Given the description of an element on the screen output the (x, y) to click on. 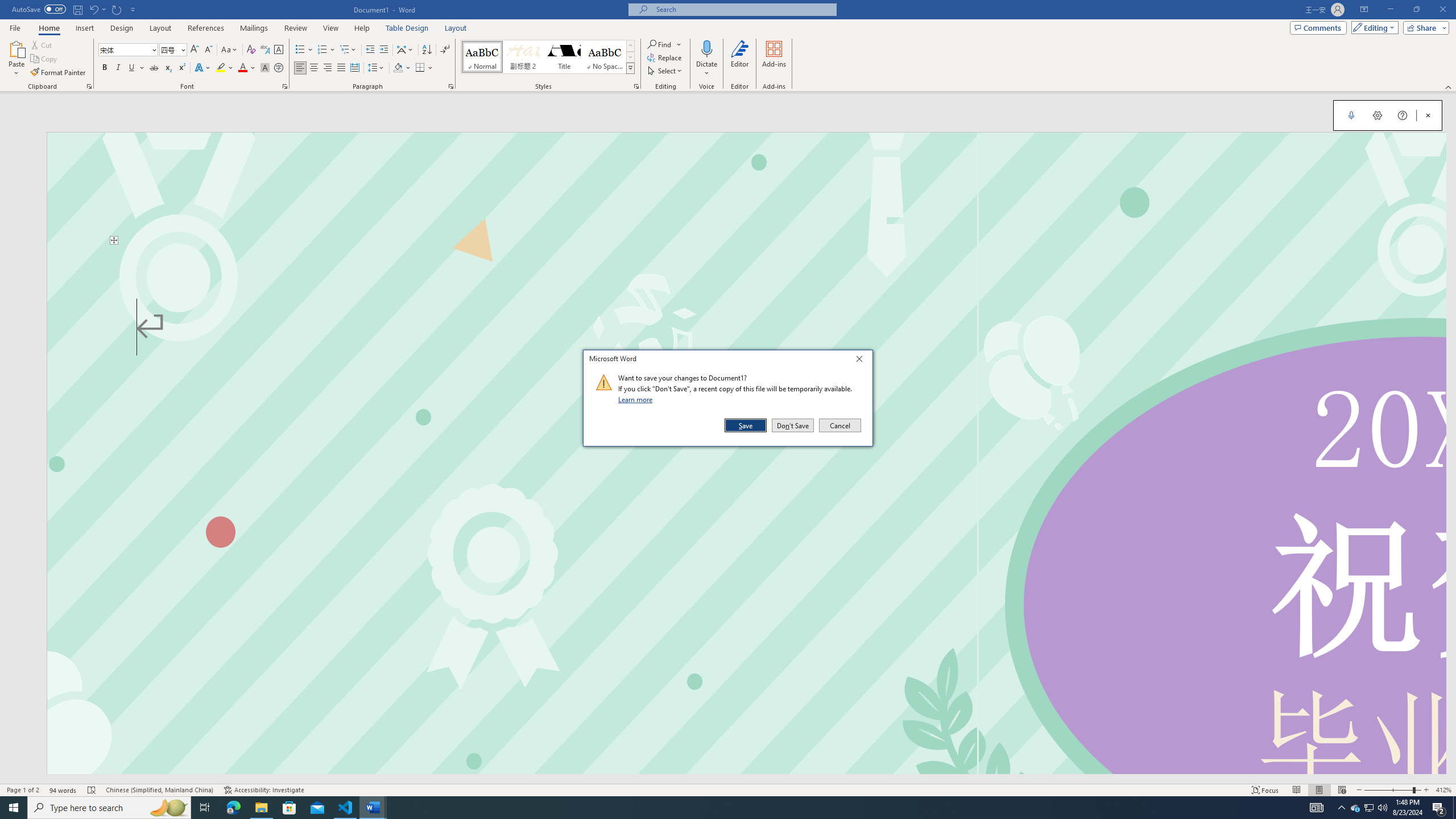
User Promoted Notification Area (1368, 807)
Don't Save (1368, 807)
Page Number Page 1 of 2 (792, 425)
Spelling and Grammar Check Errors (22, 790)
AutomationID: QuickStylesGallery (91, 790)
Learn more (548, 56)
Replace... (636, 399)
Microsoft search (665, 56)
Word - 2 running windows (742, 9)
Show desktop (373, 807)
